Given the description of an element on the screen output the (x, y) to click on. 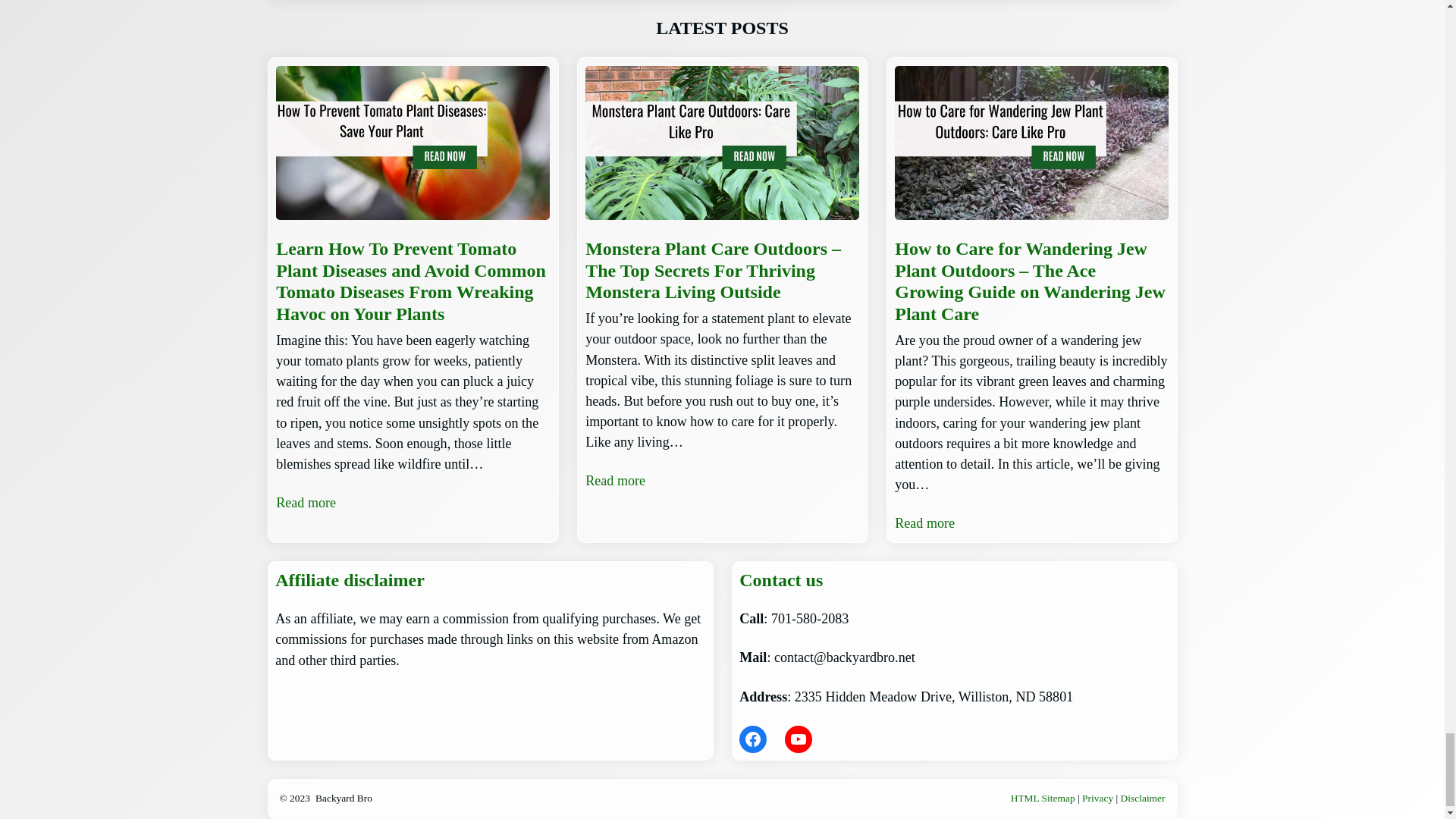
Read more (306, 503)
Read more (925, 523)
Read more (615, 480)
